Given the description of an element on the screen output the (x, y) to click on. 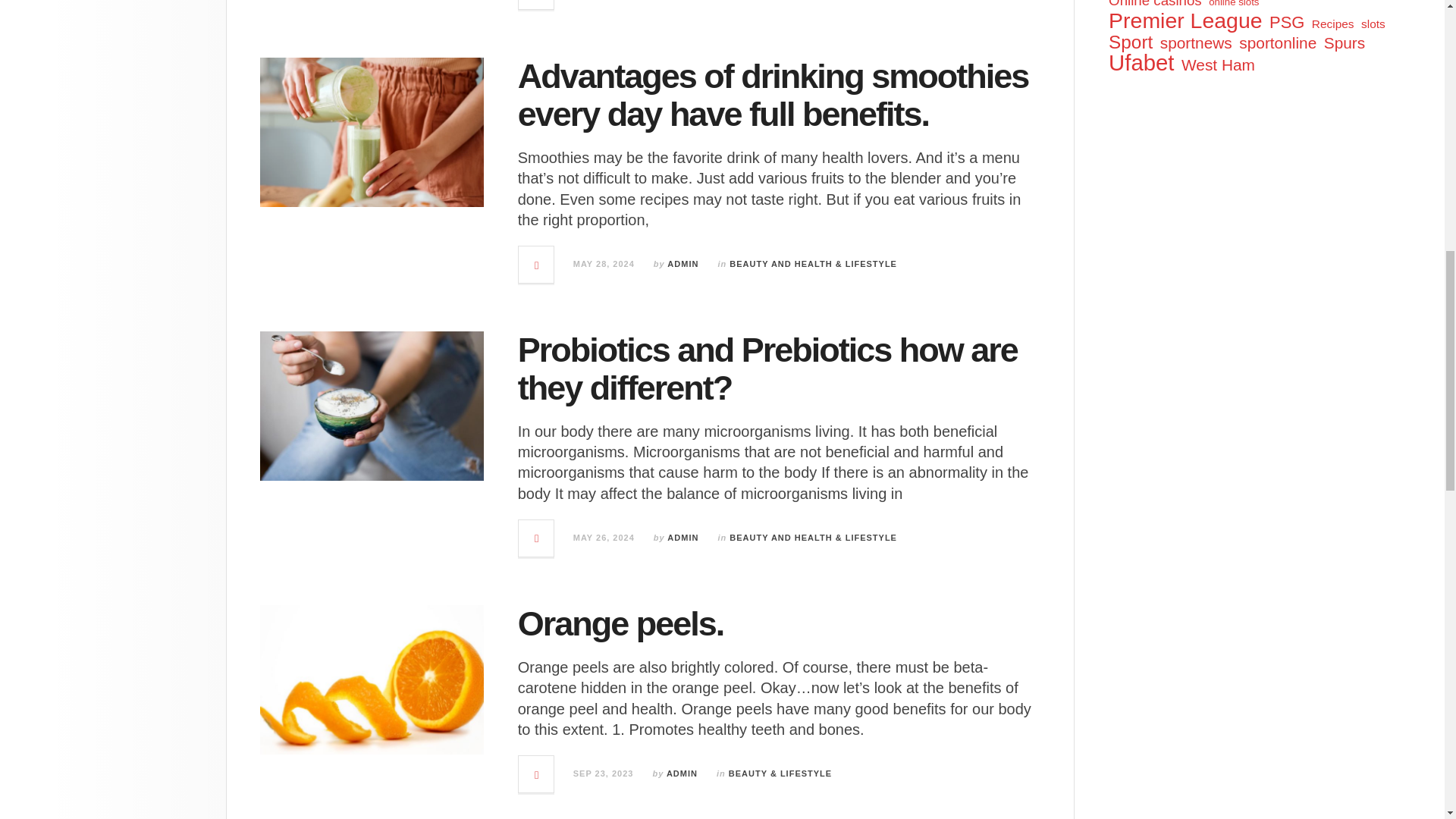
ADMIN (682, 537)
Orange peels. (620, 623)
Read More... (536, 4)
Read More... (536, 264)
Probiotics and Prebiotics how are they different? (767, 368)
ADMIN (681, 773)
ADMIN (682, 263)
